Given the description of an element on the screen output the (x, y) to click on. 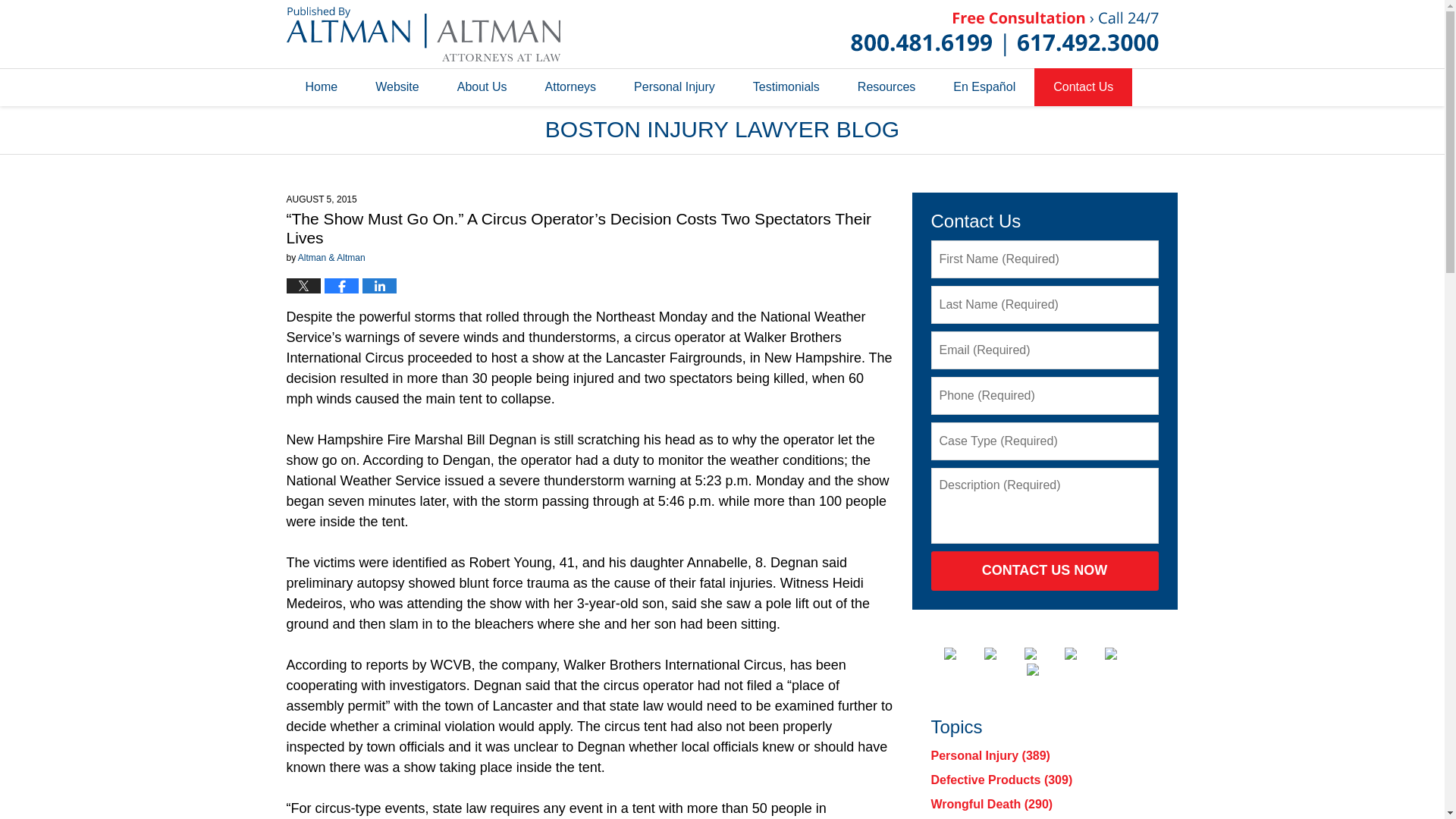
Facebook (961, 653)
Justia (1082, 653)
LinkedIn (1043, 653)
Contact Us (1082, 86)
Resources (886, 86)
About Us (481, 86)
Website (397, 86)
Personal Injury (673, 86)
YouTube (1123, 653)
Boston Injury Lawyer Blog (423, 33)
